Given the description of an element on the screen output the (x, y) to click on. 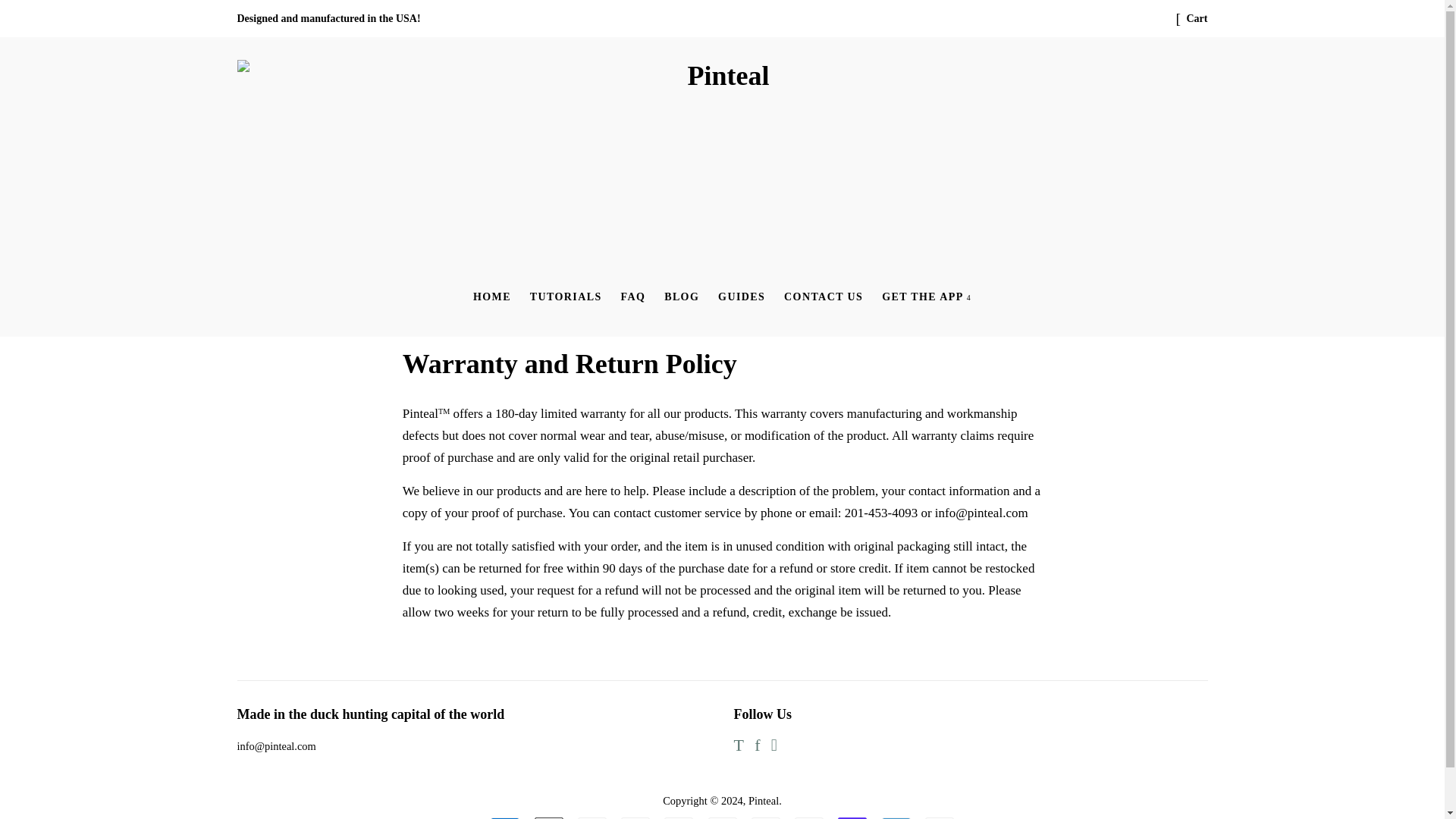
TUTORIALS (566, 296)
FAQ (632, 296)
CONTACT US (823, 296)
Discover (635, 818)
GUIDES (741, 296)
PayPal (809, 818)
BLOG (681, 296)
Diners Club (592, 818)
Pinteal (763, 800)
Apple Pay (548, 818)
